Given the description of an element on the screen output the (x, y) to click on. 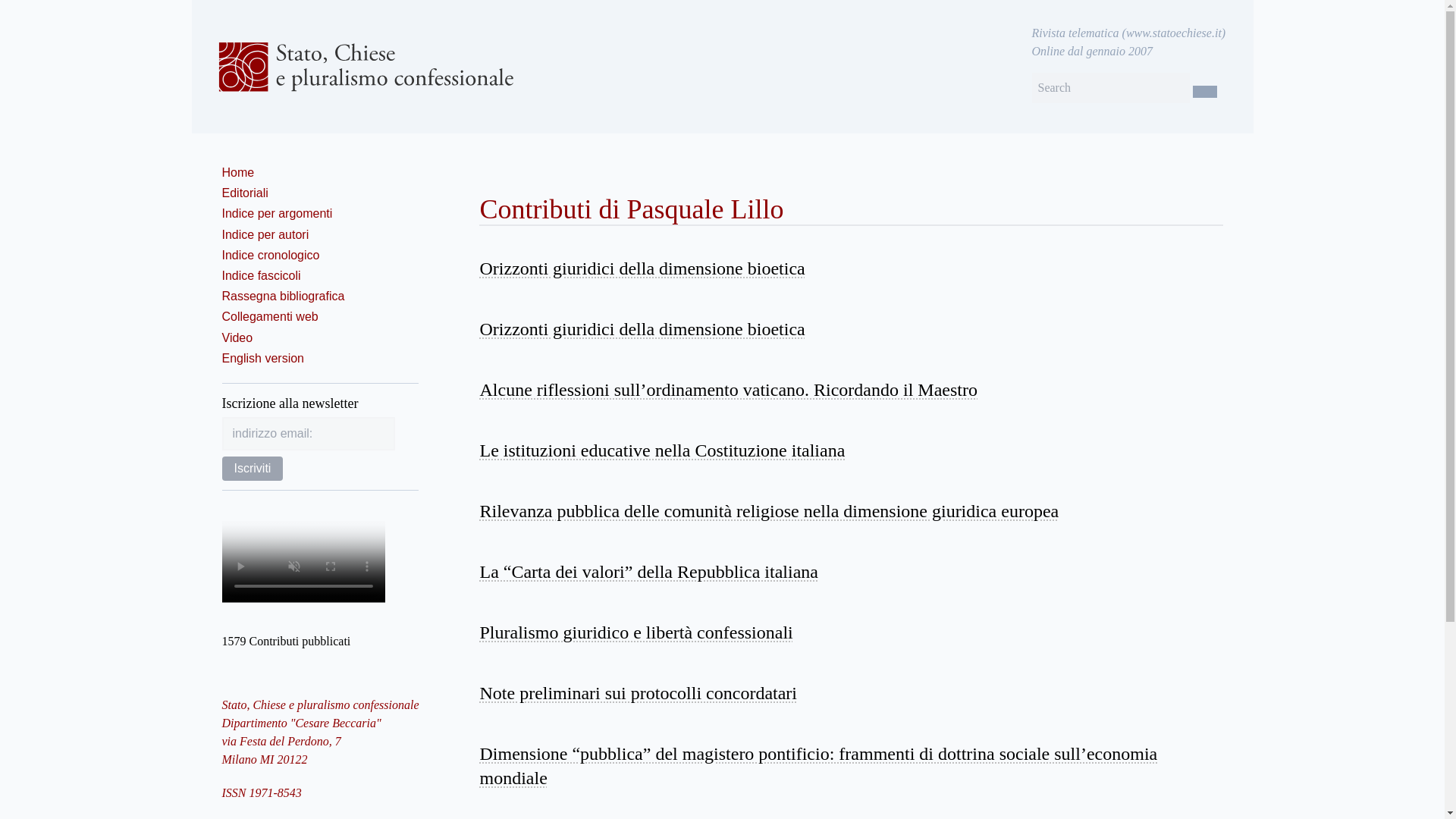
Orizzonti giuridici della dimensione bioetica (642, 268)
Indice per argomenti (276, 213)
Collegamenti web (269, 316)
Video (236, 336)
Iscriviti (251, 468)
Editoriali (244, 192)
Indice fascicoli (260, 275)
Rassegna bibliografica (282, 295)
Indice per autori (264, 234)
Indice cronologico (269, 254)
English version (262, 358)
Iscriviti (251, 468)
Home (237, 172)
